Given the description of an element on the screen output the (x, y) to click on. 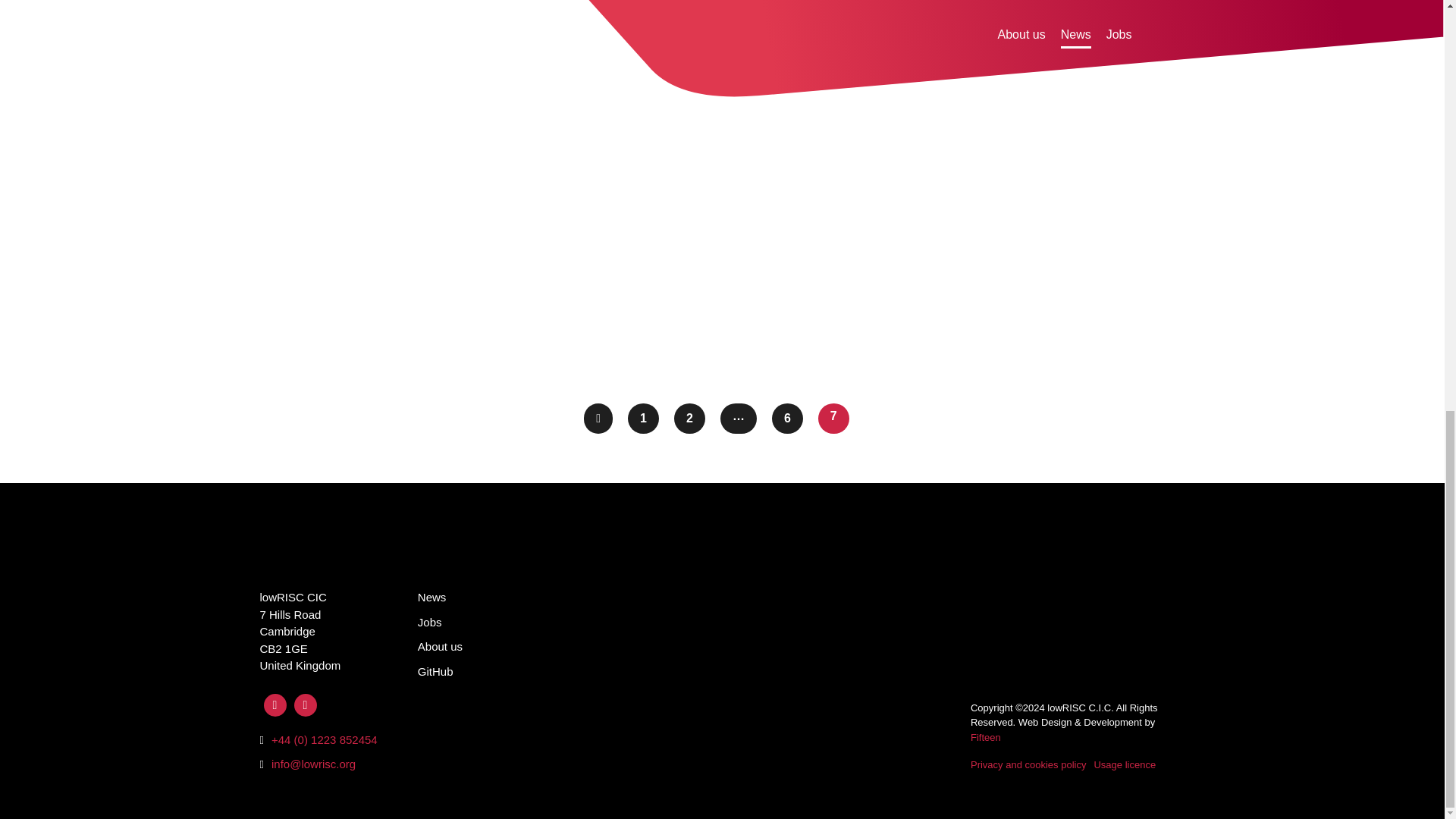
Jobs (429, 621)
News (431, 596)
Home (281, 553)
Fifteen - Award winning digital agency (986, 736)
6 (787, 418)
Previous page (597, 418)
About us (440, 645)
GitHub (434, 670)
Home (281, 553)
1 (643, 418)
2 (689, 418)
